Given the description of an element on the screen output the (x, y) to click on. 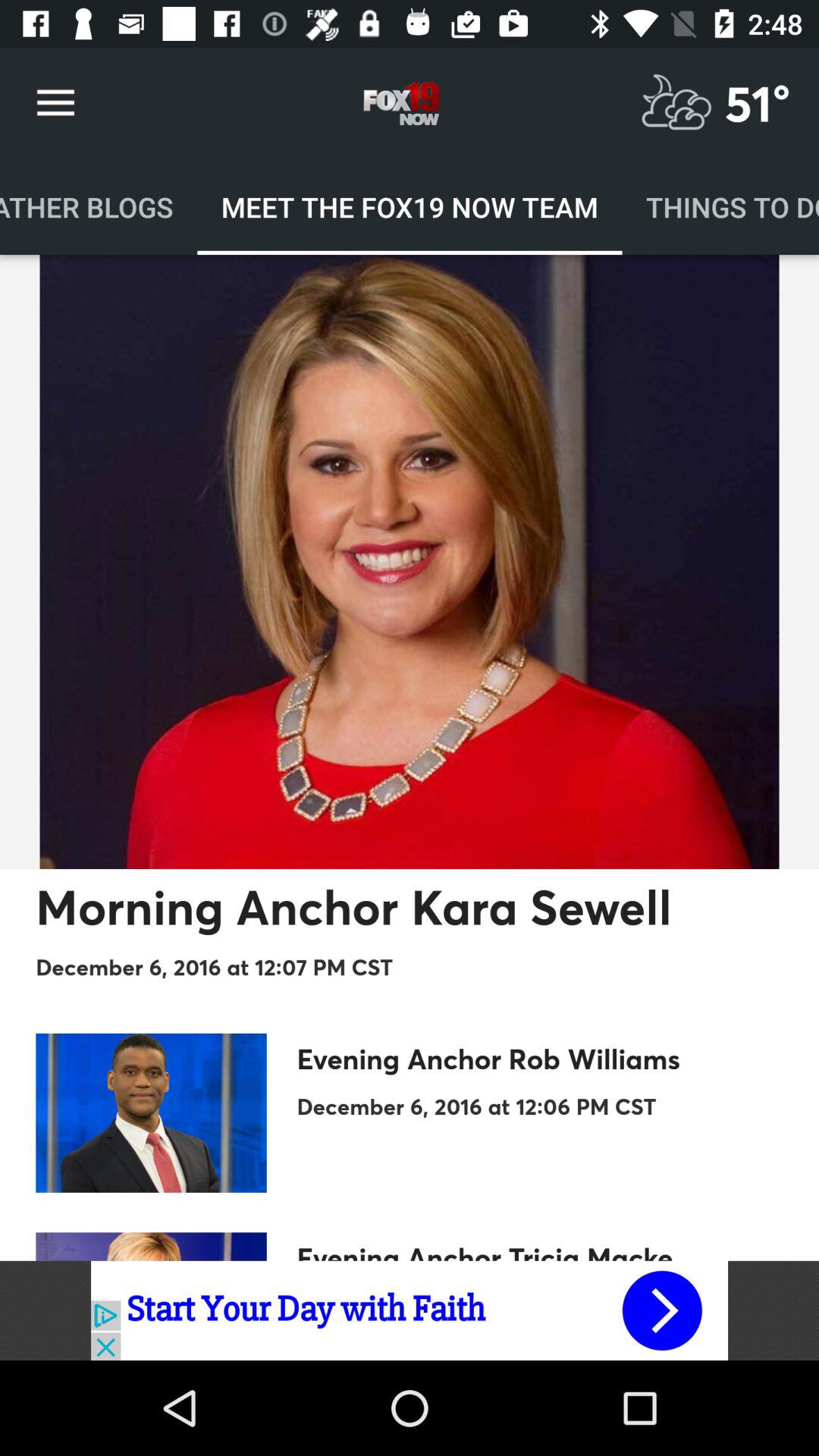
bottom advertisement (409, 1310)
